Given the description of an element on the screen output the (x, y) to click on. 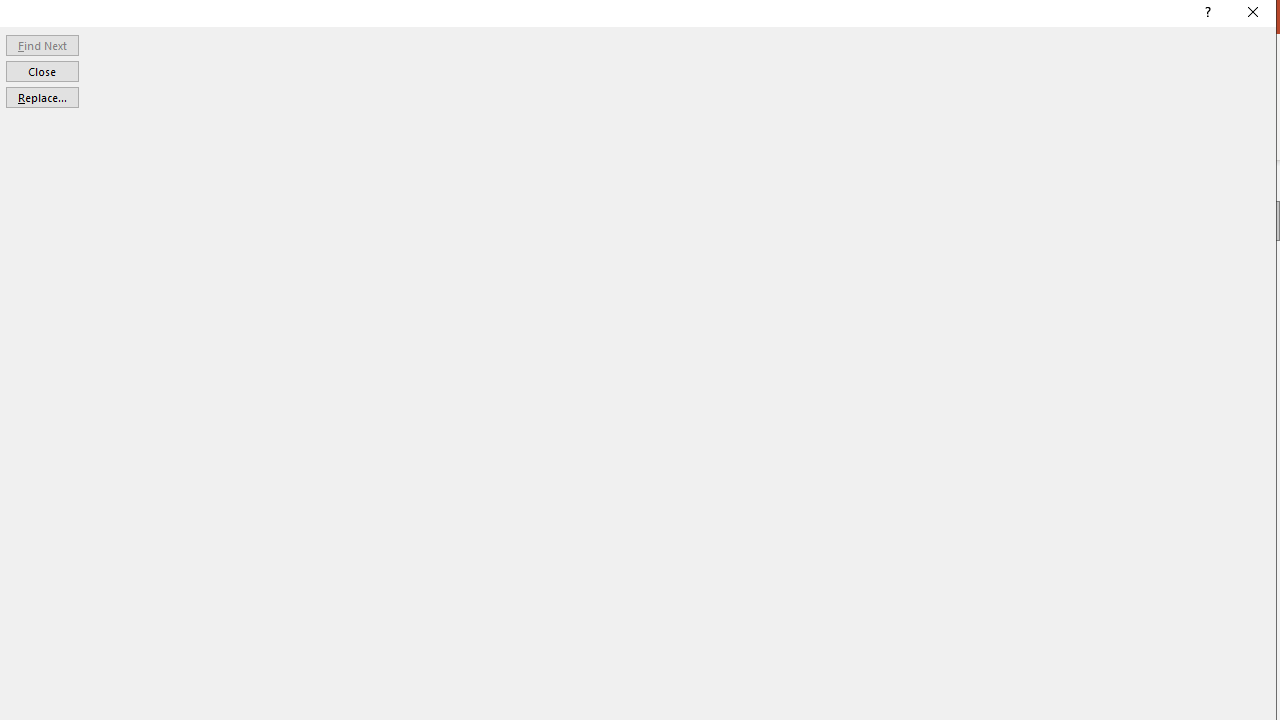
Find Next (42, 44)
Context help (1206, 14)
